Given the description of an element on the screen output the (x, y) to click on. 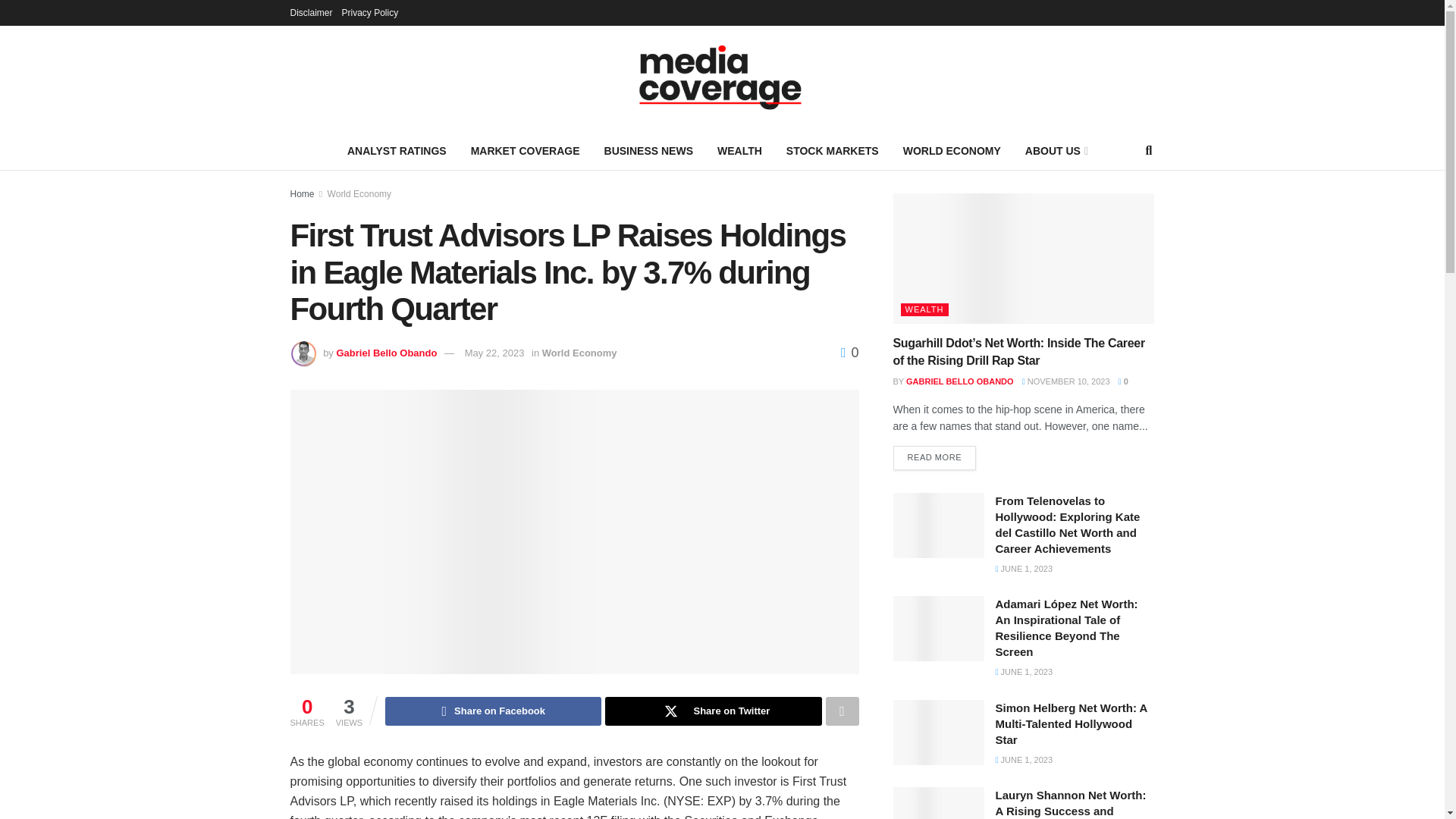
Privacy Policy (370, 12)
WEALTH (739, 150)
Share on Twitter (713, 710)
WORLD ECONOMY (952, 150)
May 22, 2023 (494, 352)
ABOUT US (1055, 150)
ANALYST RATINGS (396, 150)
Disclaimer (310, 12)
Home (301, 194)
MARKET COVERAGE (525, 150)
